Given the description of an element on the screen output the (x, y) to click on. 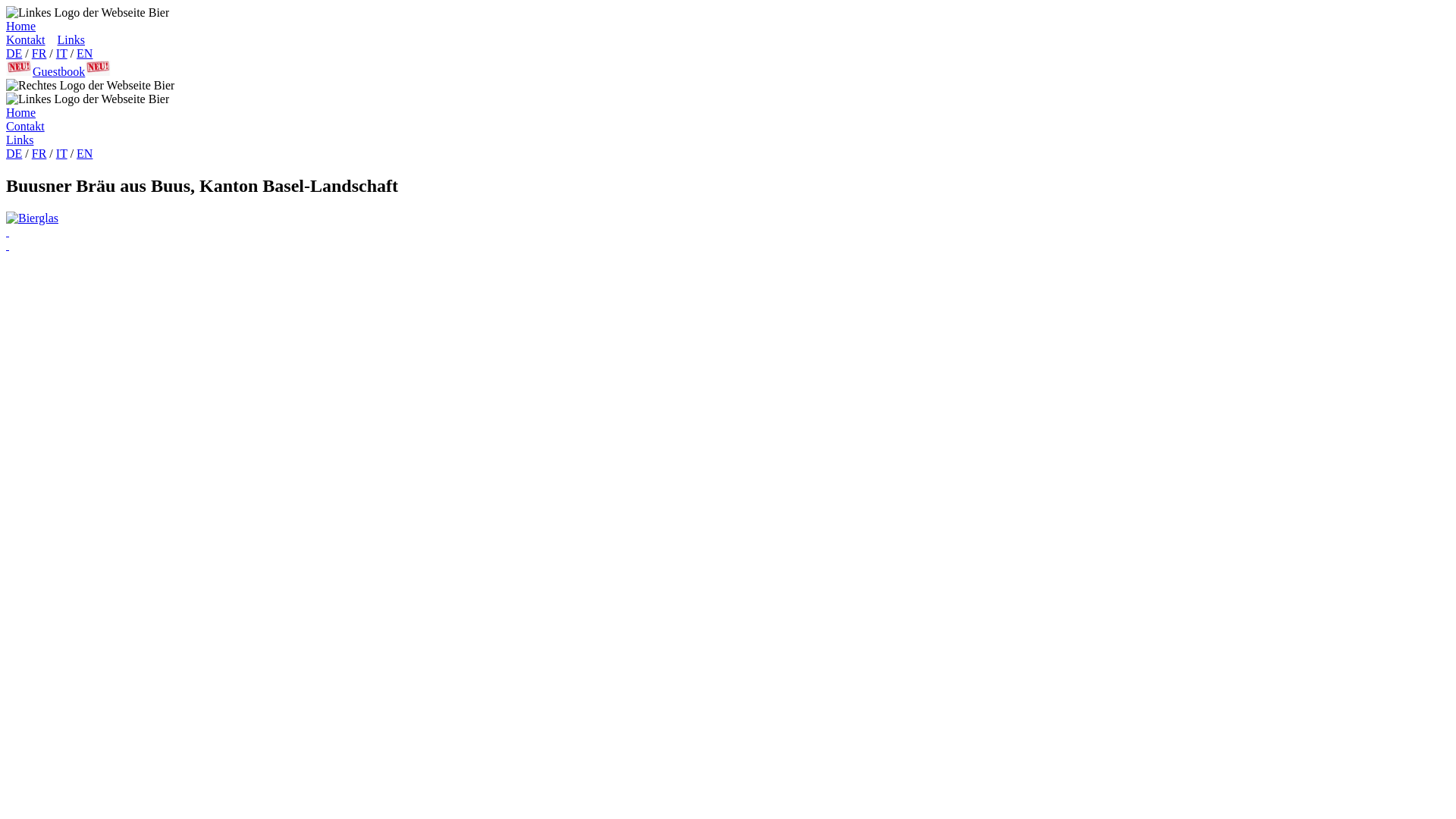
EN Element type: text (84, 153)
Guestbook Element type: text (58, 71)
IT Element type: text (61, 53)
Home Element type: text (20, 25)
FR Element type: text (39, 153)
DE Element type: text (13, 153)
    Element type: text (727, 231)
Contakt Element type: text (25, 125)
EN Element type: text (84, 53)
Kontakt Element type: text (25, 39)
IT Element type: text (61, 153)
Home Element type: text (20, 112)
DE Element type: text (13, 53)
Links Element type: text (19, 139)
FR Element type: text (39, 53)
Links Element type: text (70, 39)
